Given the description of an element on the screen output the (x, y) to click on. 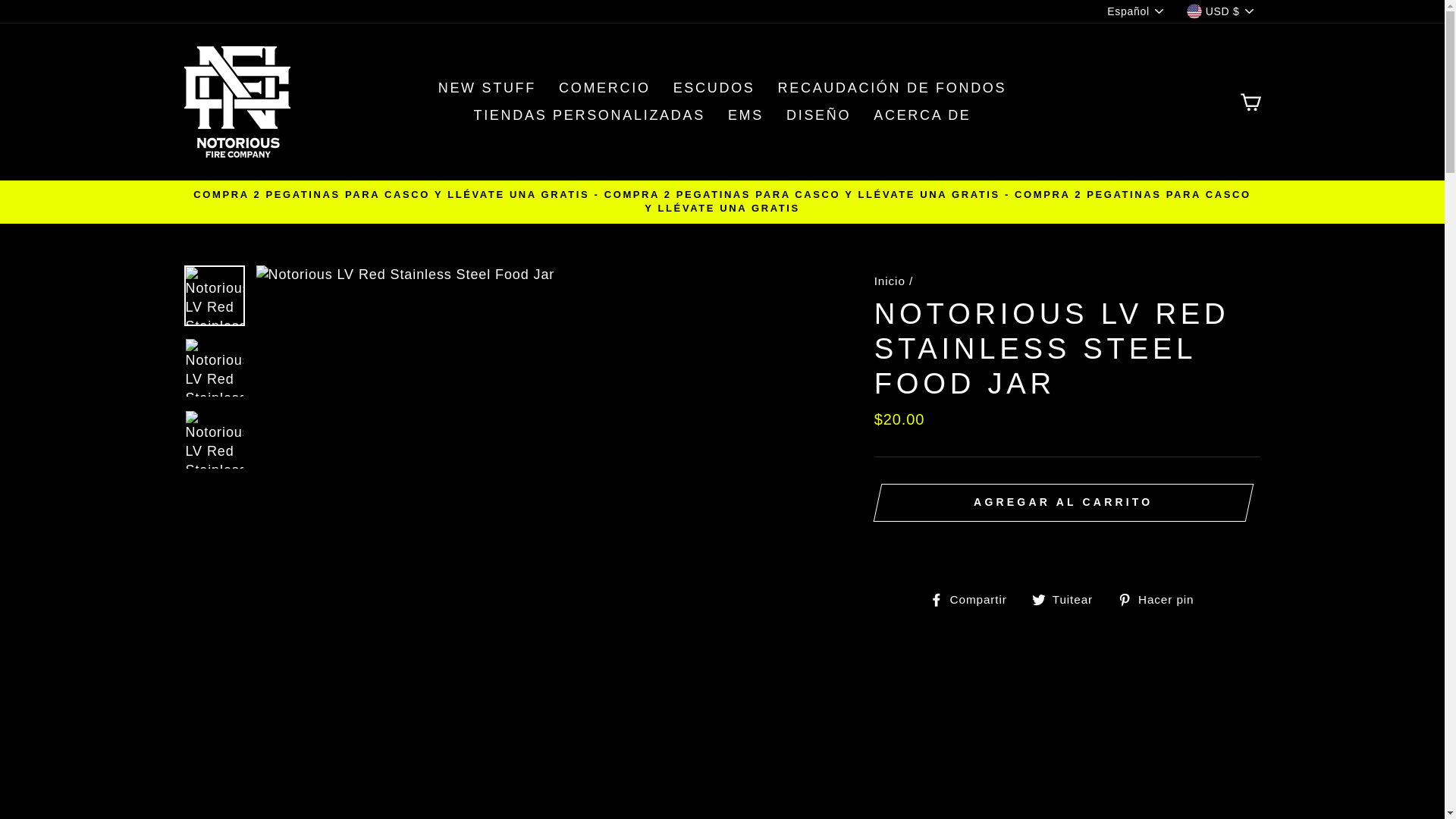
Pinear en Pinterest (1161, 599)
Volver a la portada (890, 280)
Compartir en Facebook (973, 599)
Tuitear en Twitter (1067, 599)
